Given the description of an element on the screen output the (x, y) to click on. 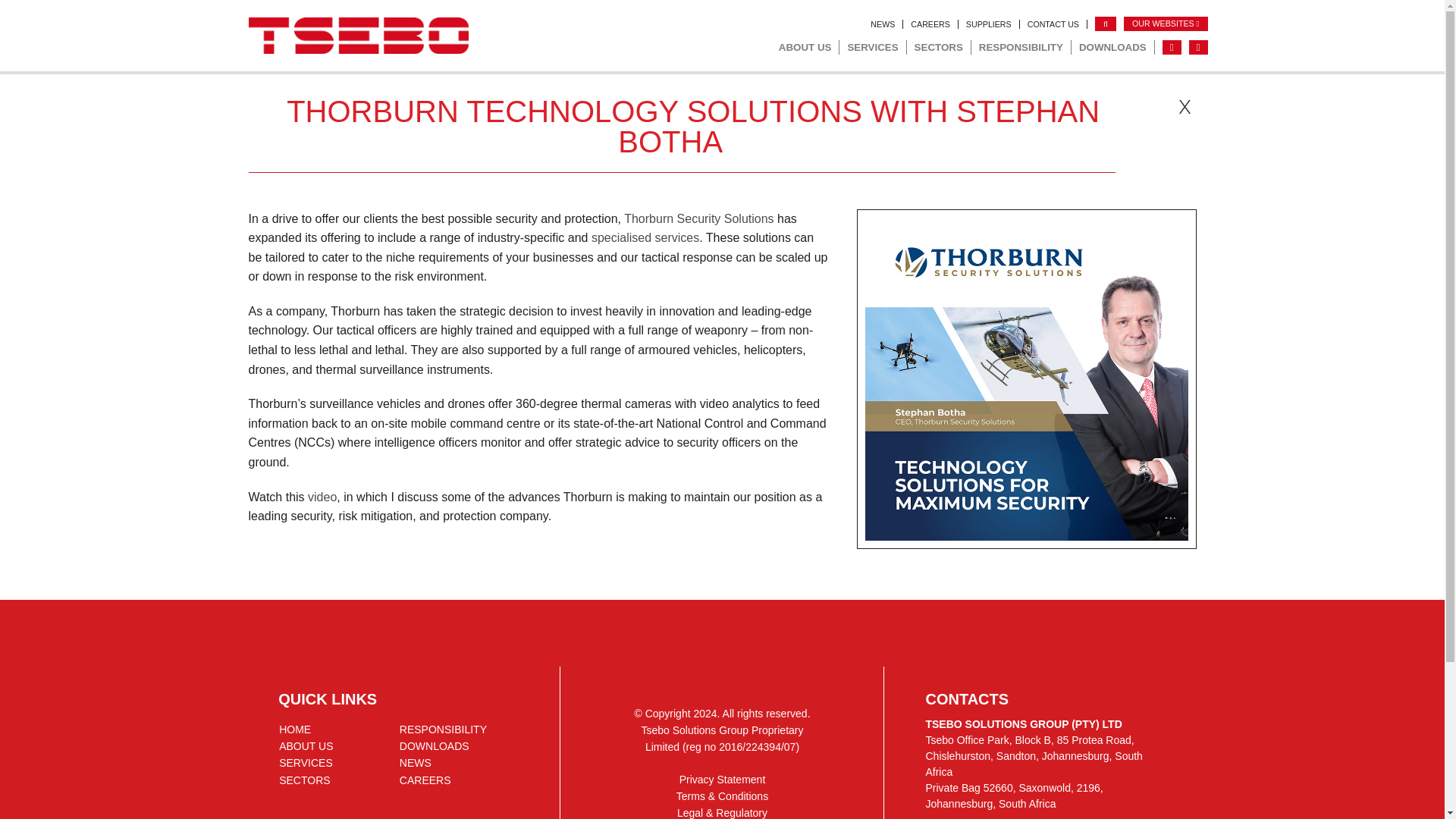
ABOUT US (805, 47)
SERVICES (872, 47)
NEWS (882, 23)
OUR WEBSITES (1166, 23)
DOWNLOADS (1112, 47)
CAREERS (930, 23)
SUPPLIERS (988, 23)
SECTORS (939, 47)
RESPONSIBILITY (1020, 47)
CONTACT US (1053, 23)
